Given the description of an element on the screen output the (x, y) to click on. 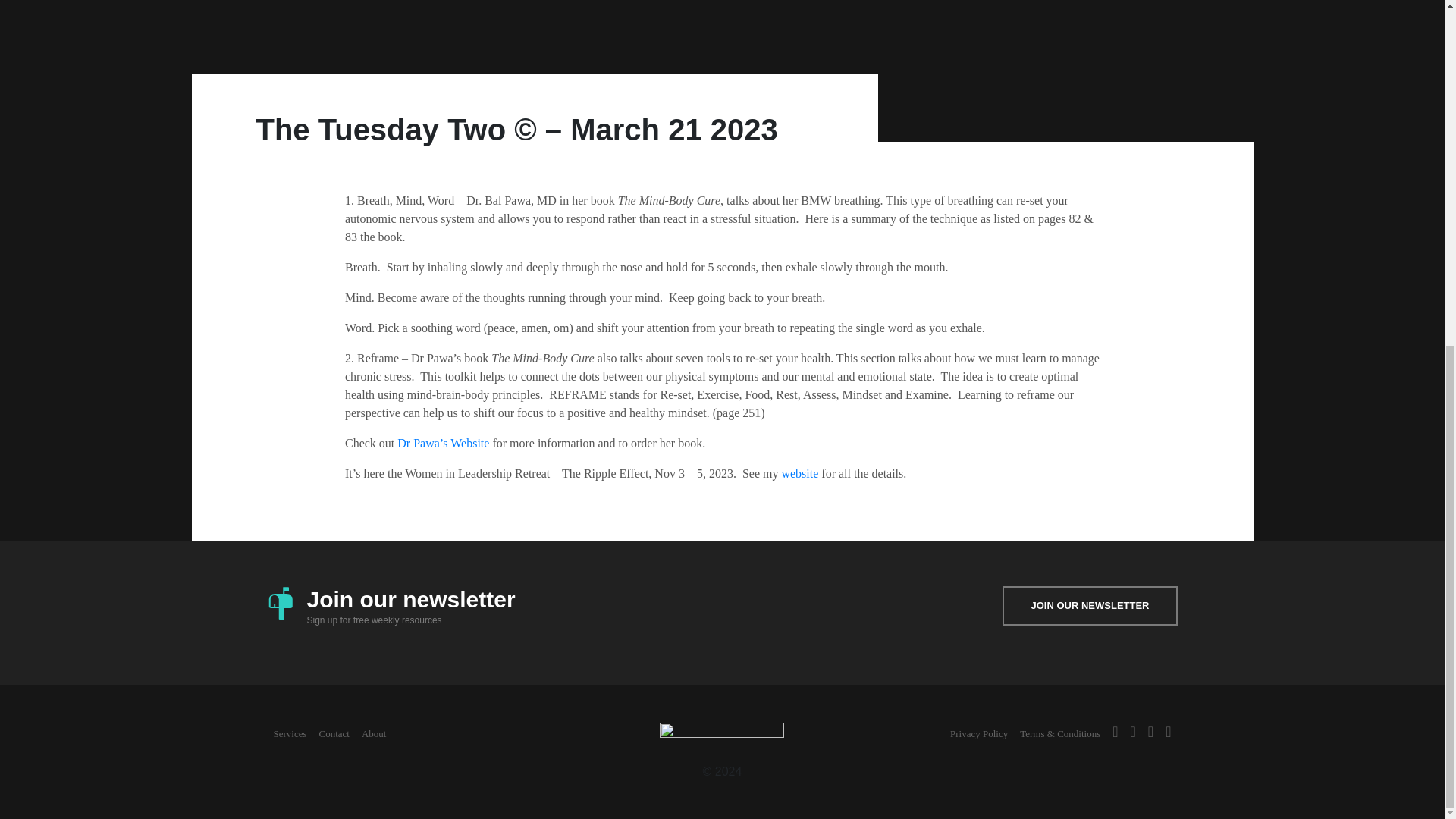
Services (289, 733)
Contact (333, 733)
About (374, 733)
Privacy Policy (978, 733)
JOIN OUR NEWSLETTER (1089, 605)
website (799, 472)
